Given the description of an element on the screen output the (x, y) to click on. 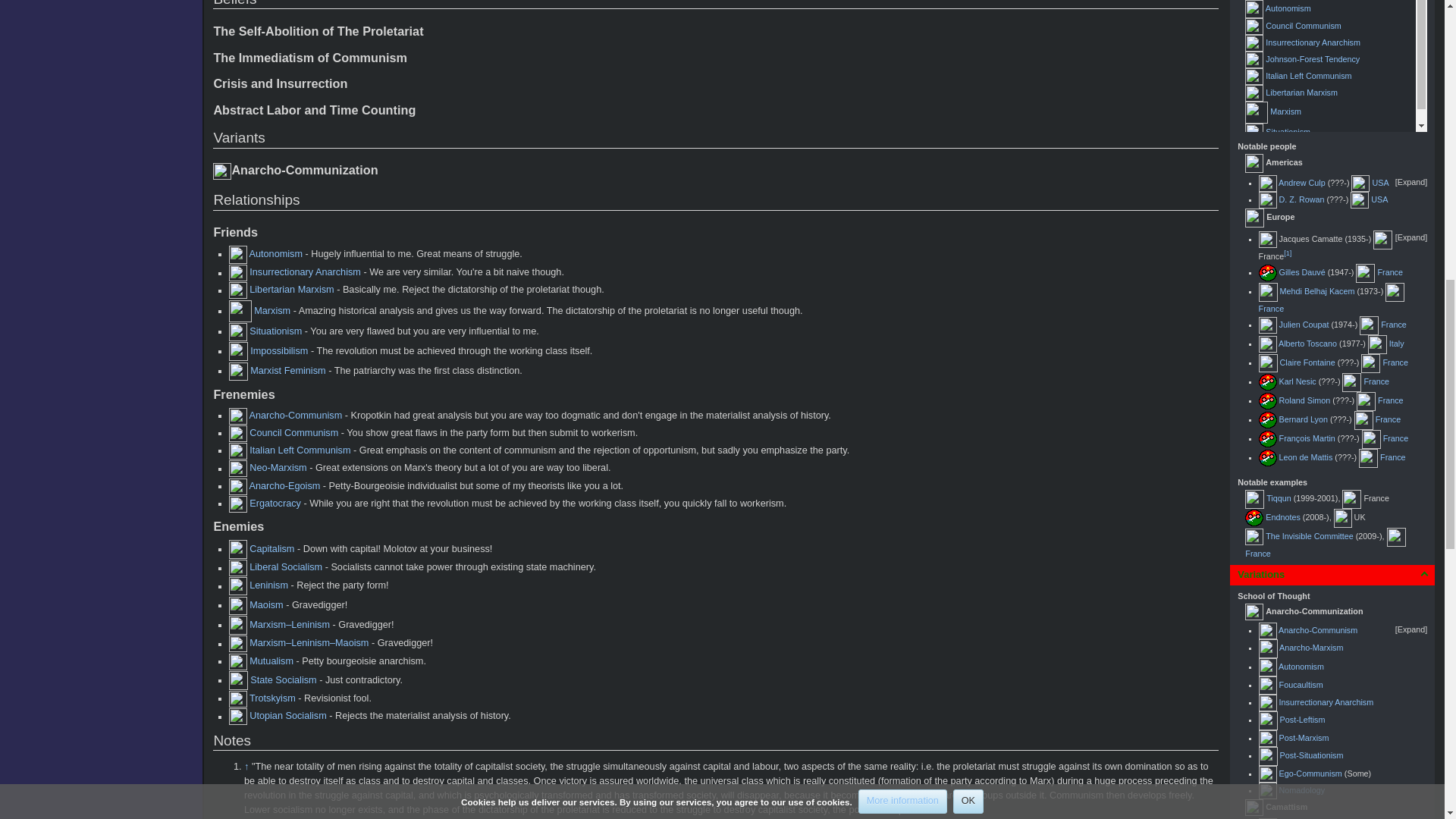
Council Communism (1302, 25)
Insurrectionary Anarchism (1312, 41)
Johnson-Forest Tendency (1312, 58)
Autonomism (1288, 8)
